Given the description of an element on the screen output the (x, y) to click on. 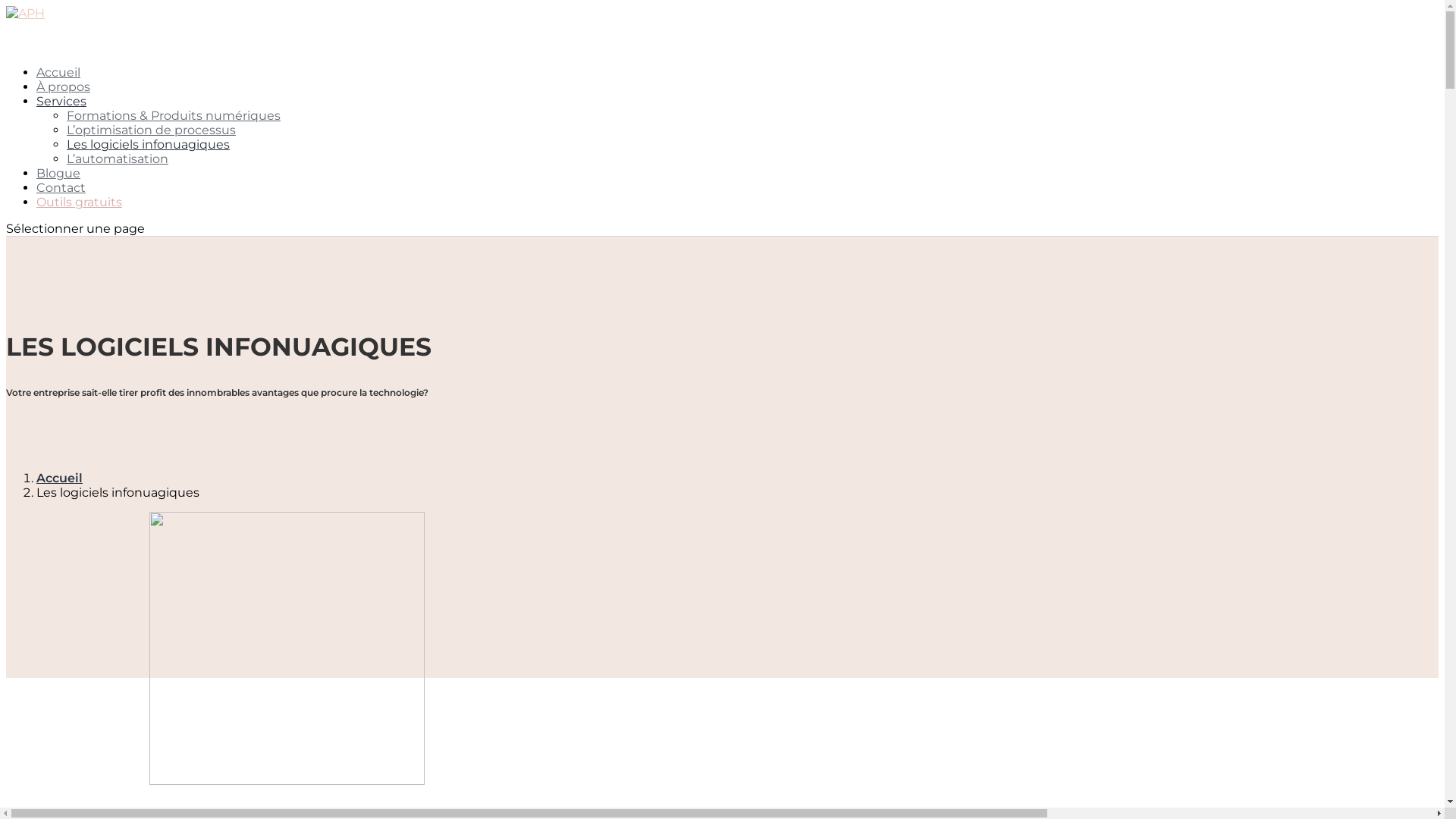
Accueil Element type: text (58, 88)
Accueil Element type: text (59, 477)
Services Element type: text (61, 117)
Blogue Element type: text (58, 189)
Les logiciels infonuagiques Element type: text (147, 144)
Contact Element type: text (60, 203)
Outils gratuits Element type: text (79, 217)
